Given the description of an element on the screen output the (x, y) to click on. 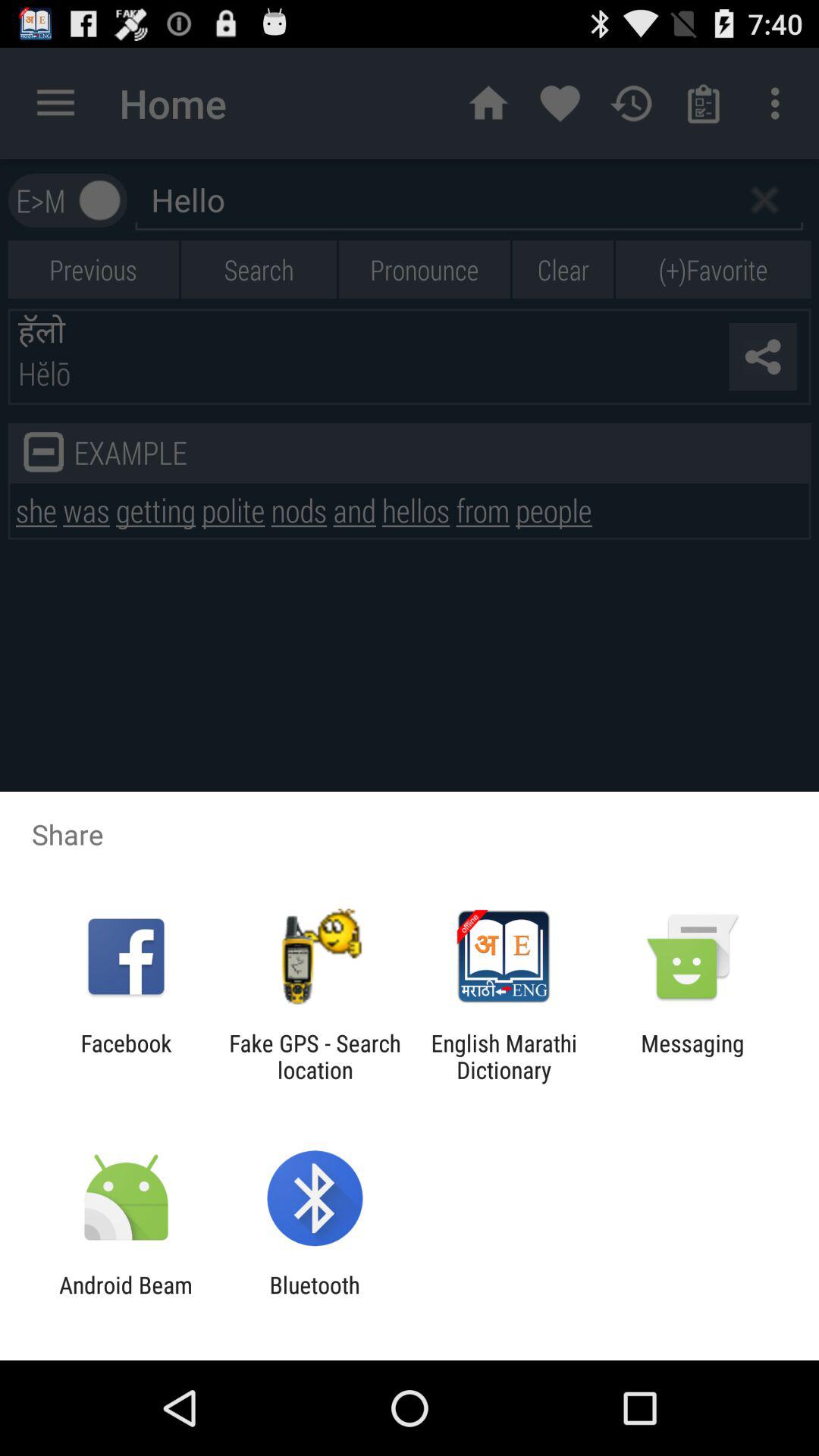
jump until the android beam icon (125, 1298)
